Given the description of an element on the screen output the (x, y) to click on. 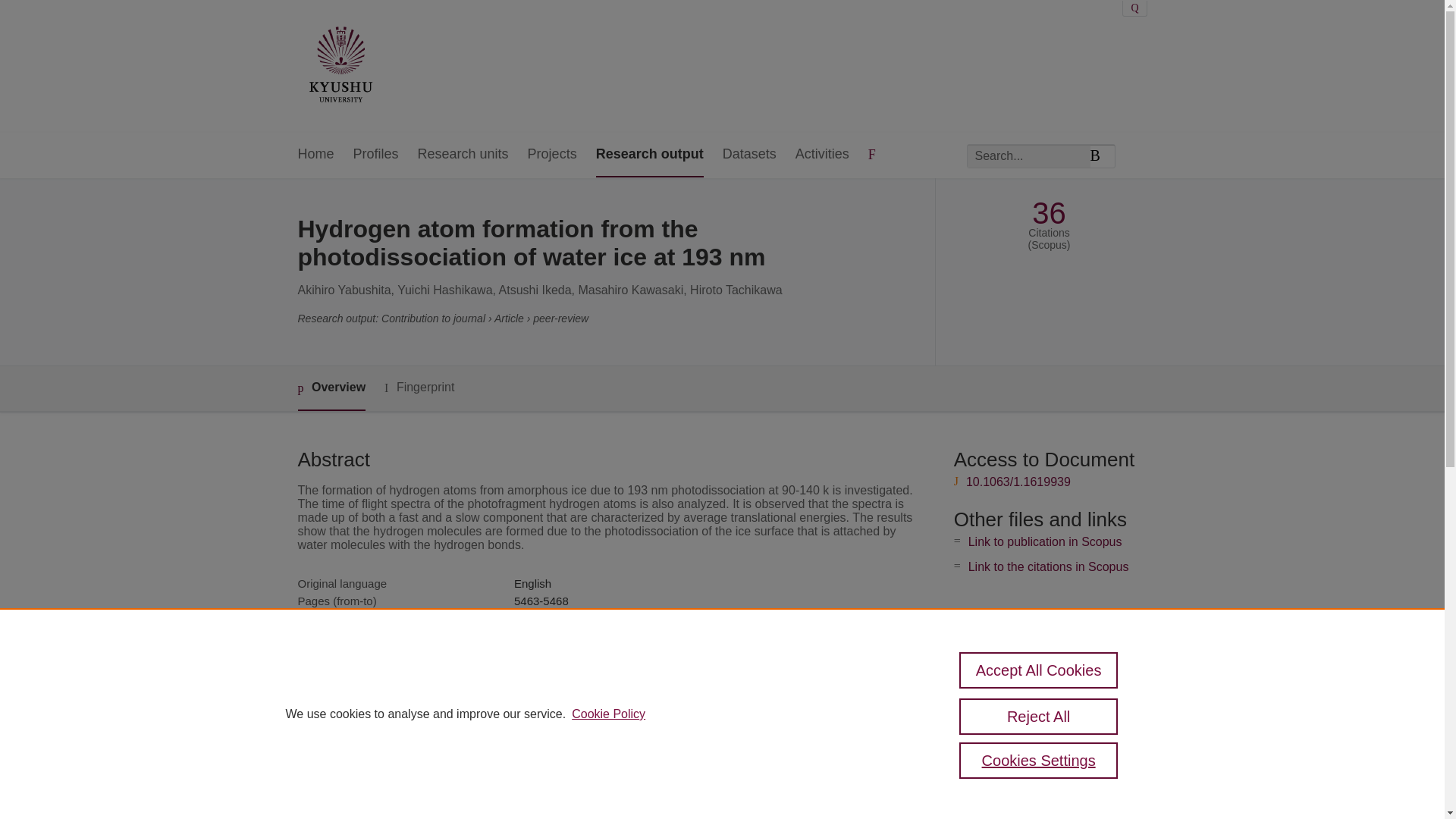
Activities (821, 154)
Link to publication in Scopus (1045, 541)
Journal of Chemical Physics (584, 635)
Overview (331, 388)
36 (1048, 212)
Datasets (749, 154)
Projects (551, 154)
Research units (462, 154)
Fingerprint (419, 387)
